Given the description of an element on the screen output the (x, y) to click on. 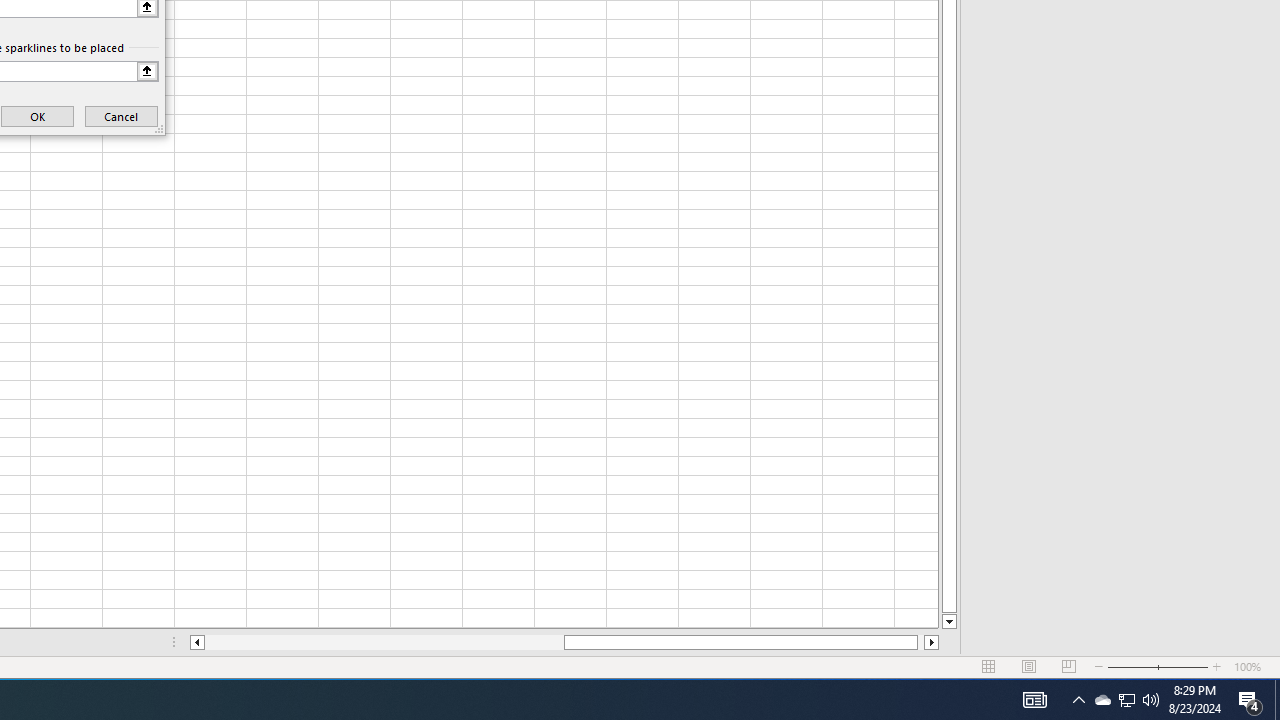
Page left (384, 642)
